Given the description of an element on the screen output the (x, y) to click on. 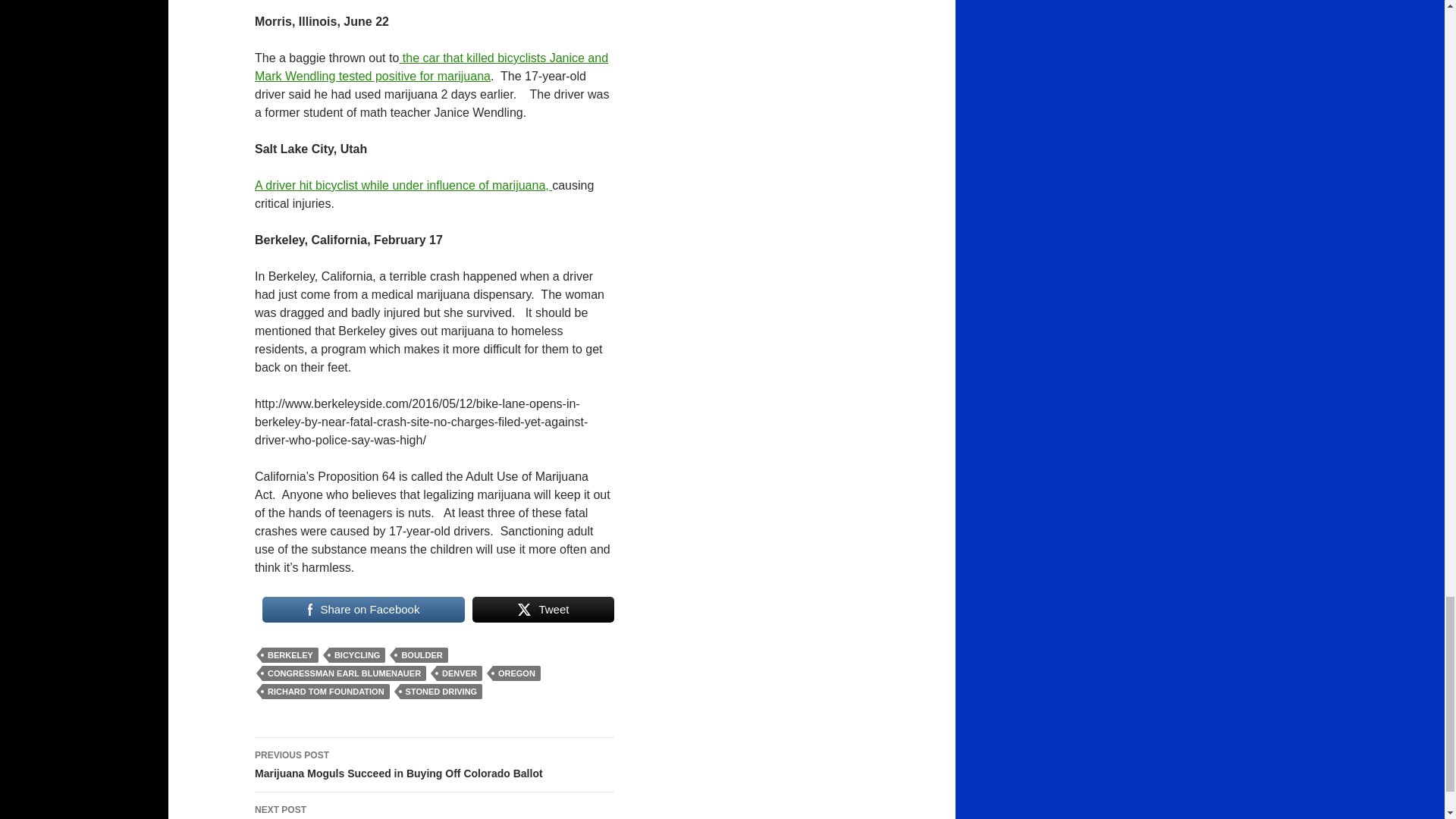
BICYCLING (357, 654)
Tweet (542, 609)
Share on Facebook (363, 609)
BERKELEY (290, 654)
A driver hit bicyclist while under influence of marijuana, (402, 185)
